Given the description of an element on the screen output the (x, y) to click on. 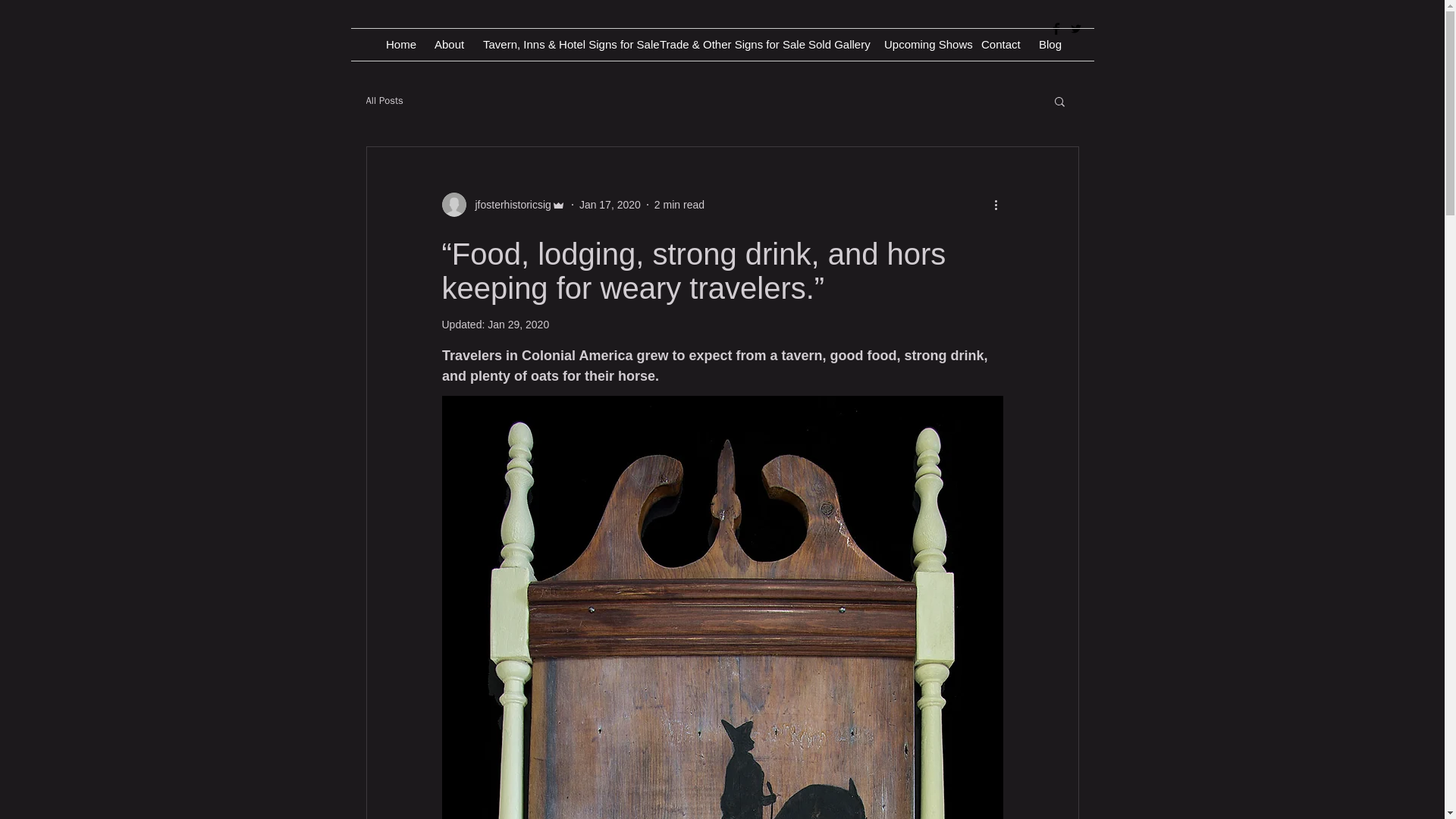
Contact (998, 44)
Sold Gallery (834, 44)
Upcoming Shows (920, 44)
All Posts (384, 100)
Jan 29, 2020 (517, 324)
2 min read (678, 204)
Blog (1048, 44)
About (447, 44)
jfosterhistoricsig (507, 204)
Home (398, 44)
